Given the description of an element on the screen output the (x, y) to click on. 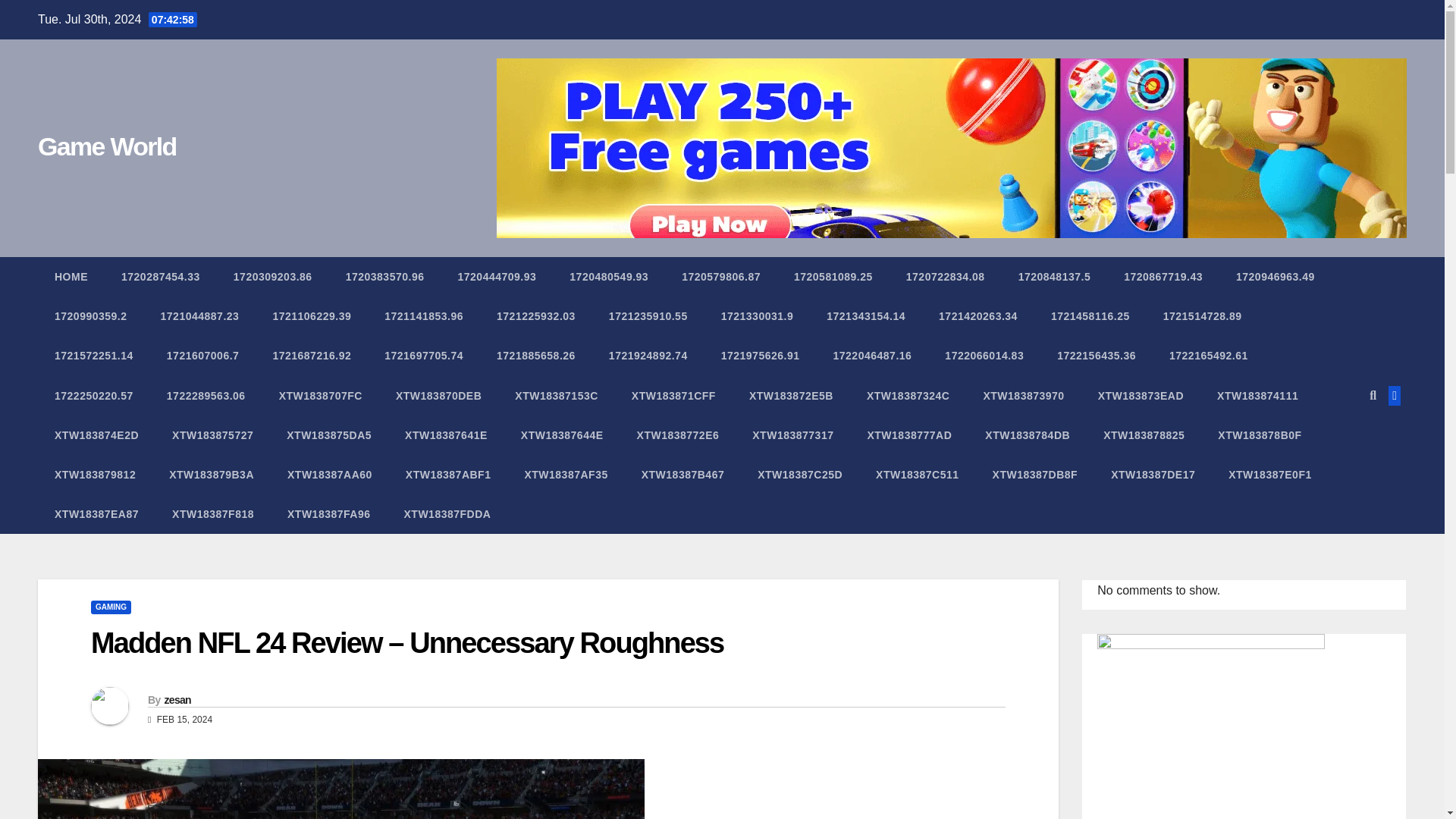
1720579806.87 (721, 276)
1721514728.89 (1203, 315)
1721885658.26 (536, 355)
HOME (70, 276)
1721420263.34 (977, 315)
1721141853.96 (424, 315)
1721330031.9 (757, 315)
1721924892.74 (648, 355)
1720581089.25 (833, 276)
1720722834.08 (945, 276)
1722046487.16 (872, 355)
1721106229.39 (312, 315)
1720287454.33 (160, 276)
1721975626.91 (760, 355)
1720383570.96 (385, 276)
